Given the description of an element on the screen output the (x, y) to click on. 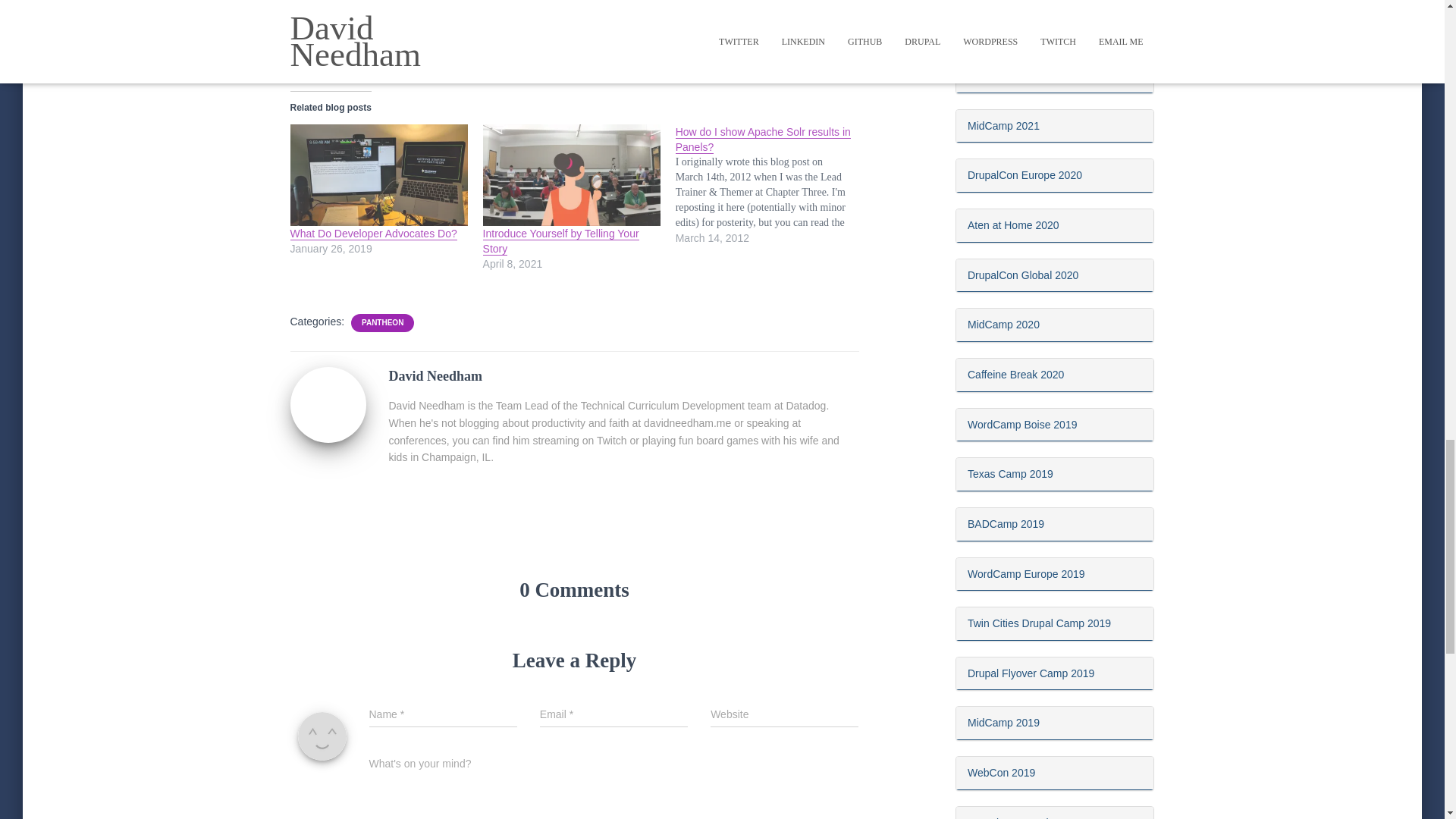
What Do Developer Advocates Do? (378, 175)
Click to email this to a friend (413, 46)
Click to share on Twitter (301, 46)
How do I show Apache Solr results in Panels? (762, 139)
Click to share on LinkedIn (357, 46)
PANTHEON (381, 322)
Introduce Yourself by Telling Your Story (561, 241)
Click to share on Reddit (386, 46)
What Do Developer Advocates Do? (373, 233)
Click to share on Facebook (330, 46)
Introduce Yourself by Telling Your Story (572, 175)
What Do Developer Advocates Do? (373, 233)
